Given the description of an element on the screen output the (x, y) to click on. 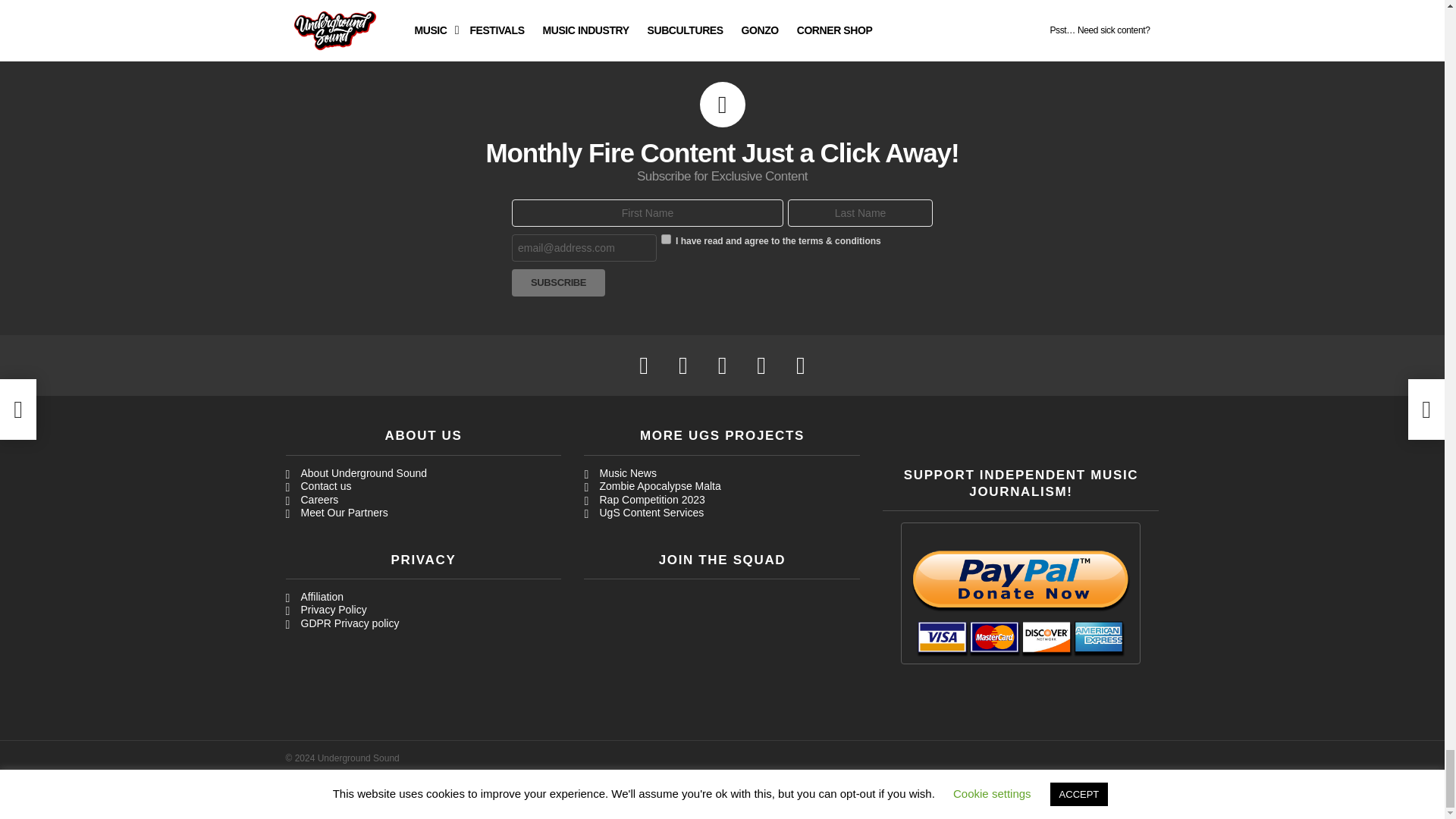
Subscribe (558, 282)
1 (666, 239)
